Given the description of an element on the screen output the (x, y) to click on. 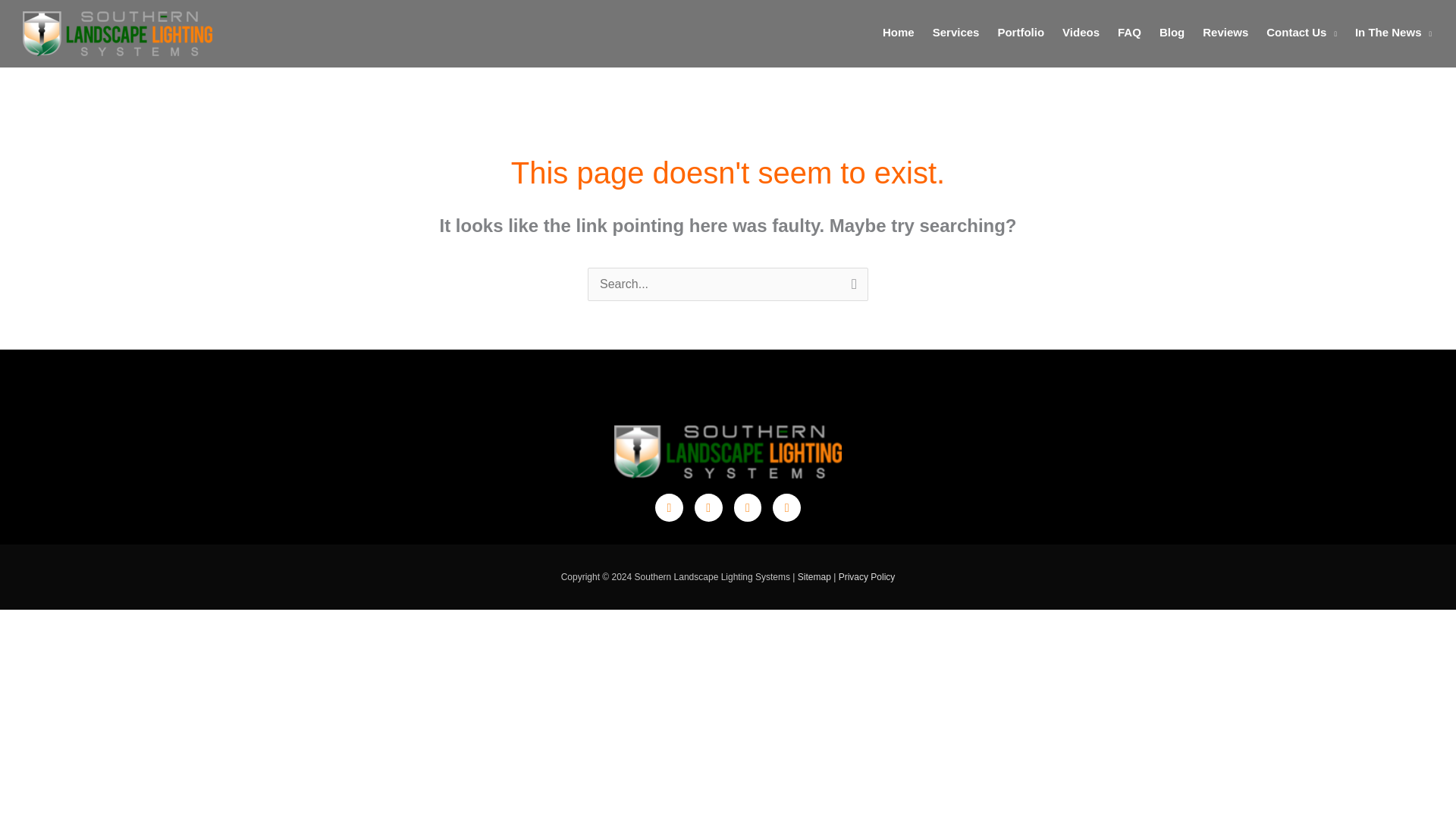
Home (898, 31)
FAQ (1129, 31)
In The News (1393, 31)
Blog (1171, 31)
Sitemap (814, 576)
Portfolio (1020, 31)
Twitter (668, 507)
Contact Us (1301, 31)
Youtube (747, 507)
Instagram (786, 507)
